Given the description of an element on the screen output the (x, y) to click on. 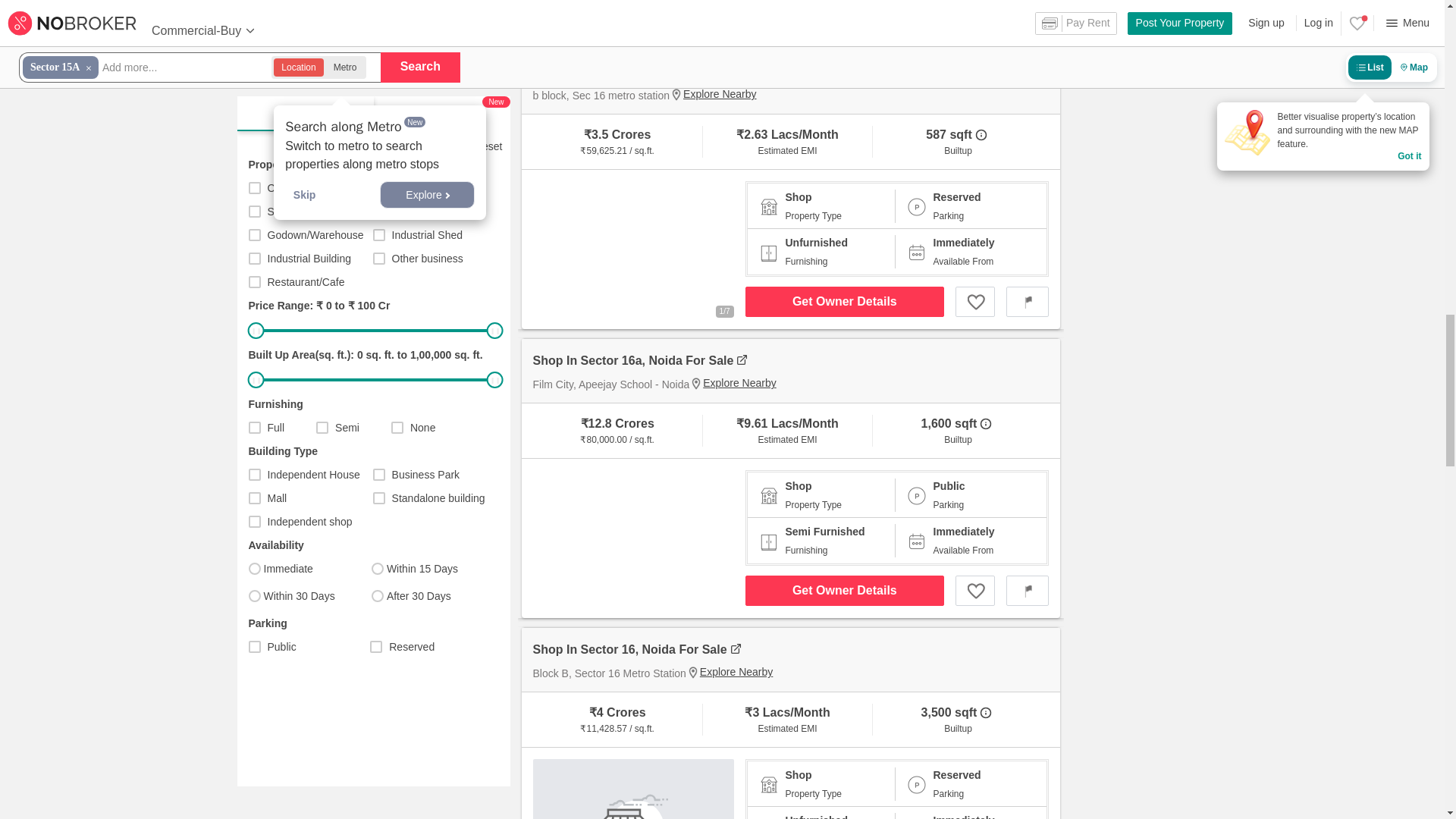
Shop in Sector 16a, Noida for sale  (795, 360)
Shop in Sector 16, Noida for sale  (795, 71)
Shop in Sector 16, Noida for sale  (795, 649)
